Given the description of an element on the screen output the (x, y) to click on. 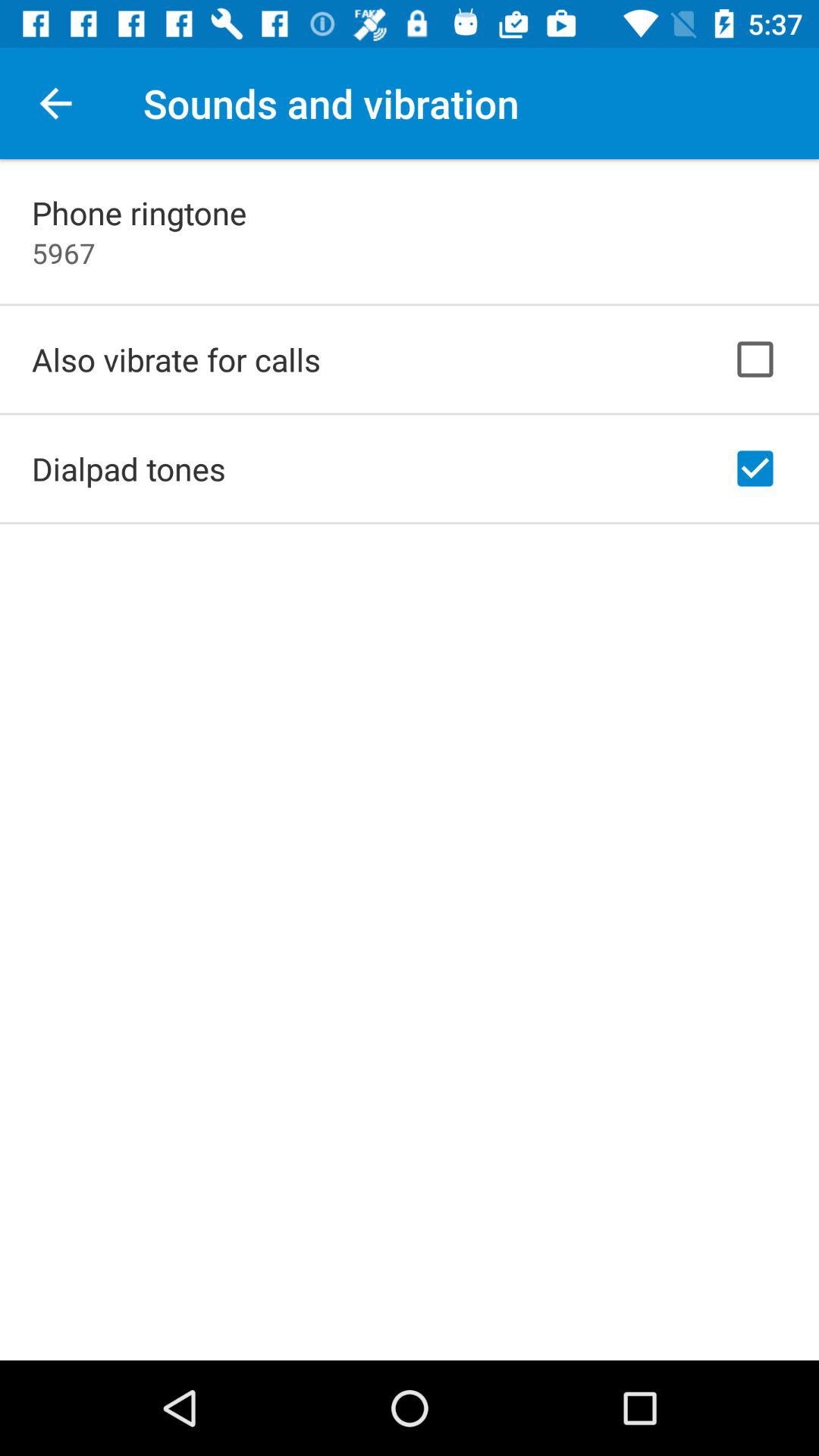
scroll until the dialpad tones icon (128, 468)
